Given the description of an element on the screen output the (x, y) to click on. 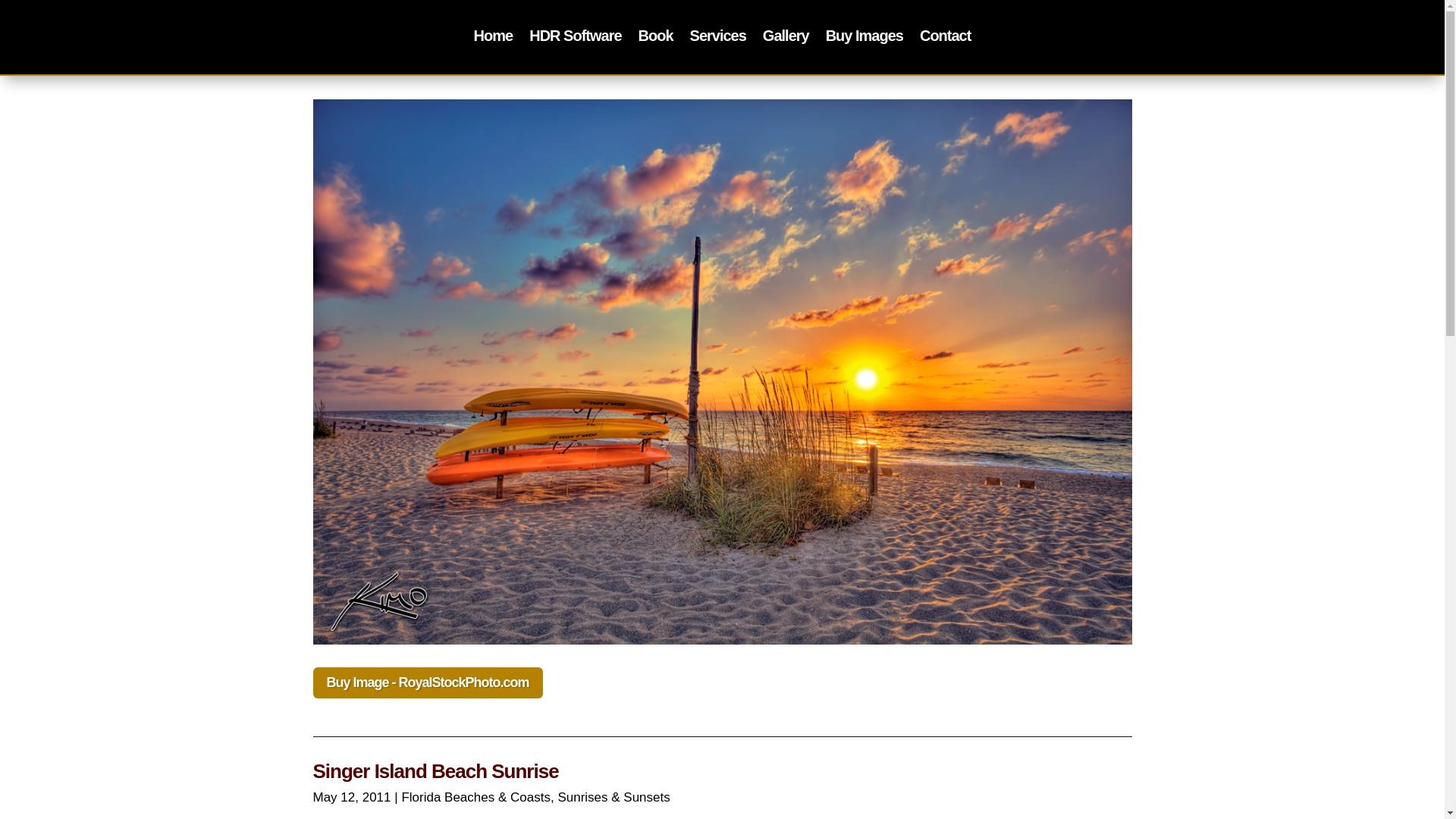
Home (493, 38)
Contact (945, 38)
Buy Image - RoyalStockPhoto.com (427, 682)
Gallery (785, 38)
HDR Software (575, 38)
Book (655, 38)
Buy Images (863, 38)
Buy Captain Kimo Images (863, 38)
Services (717, 38)
